Given the description of an element on the screen output the (x, y) to click on. 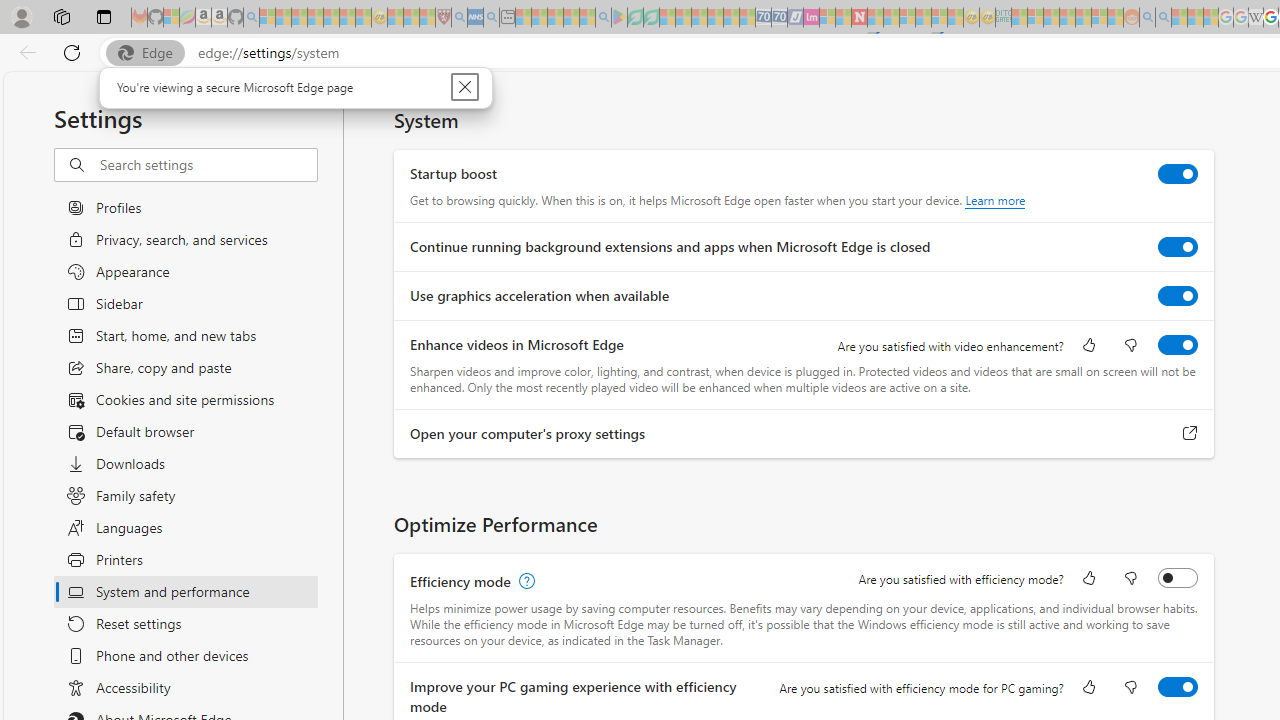
Enhance videos in Microsoft Edge (1178, 344)
Open your computer's proxy settings (1190, 434)
